Given the description of an element on the screen output the (x, y) to click on. 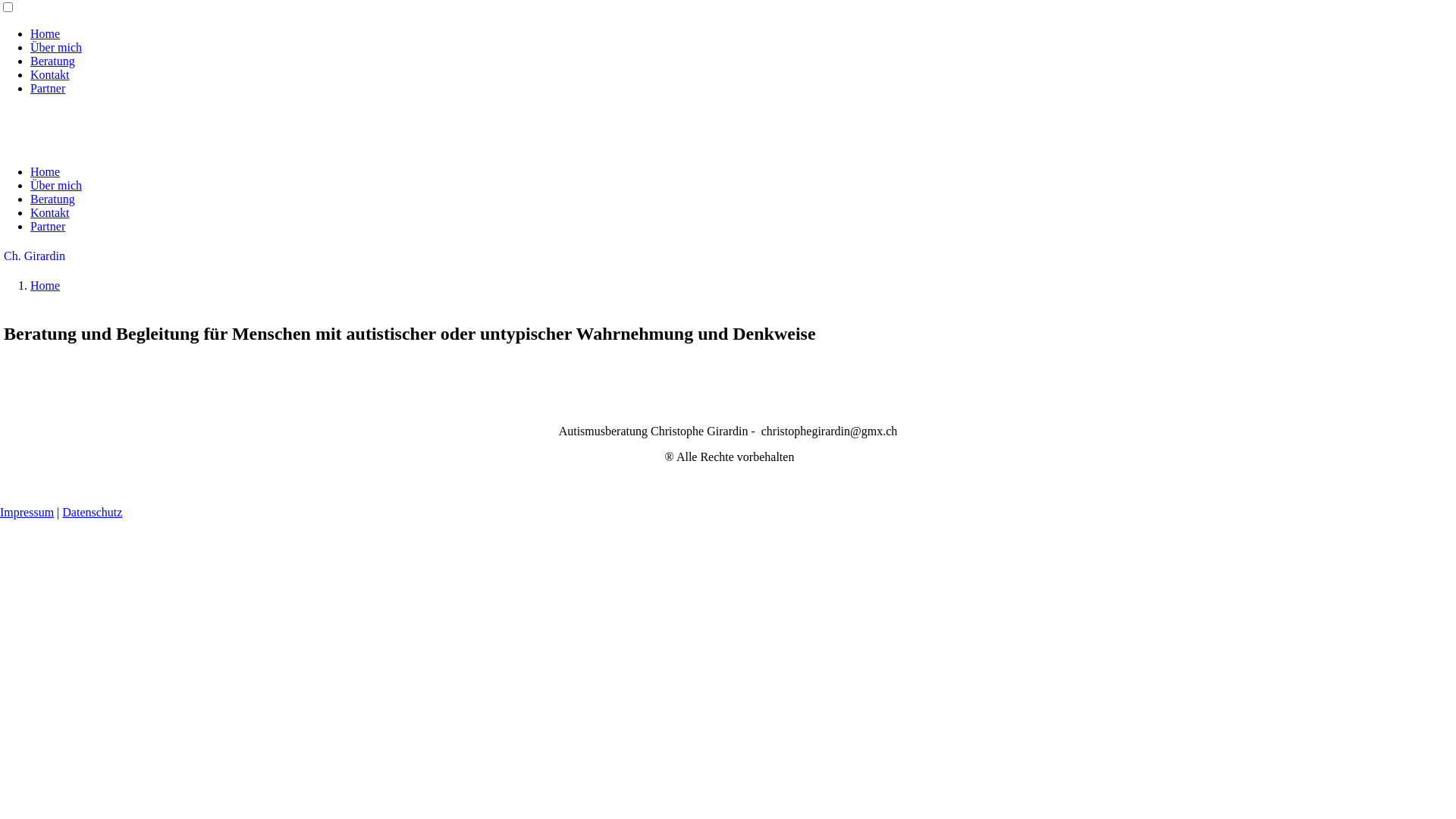
Kontakt Element type: text (49, 212)
Partner Element type: text (47, 87)
Home Element type: text (44, 285)
Kontakt Element type: text (49, 74)
Home Element type: text (44, 171)
Impressum Element type: text (26, 511)
Ch. Girardin Element type: text (34, 255)
Partner Element type: text (47, 225)
Beratung Element type: text (52, 198)
Datenschutz Element type: text (92, 511)
Home Element type: text (44, 33)
Beratung Element type: text (52, 60)
